Given the description of an element on the screen output the (x, y) to click on. 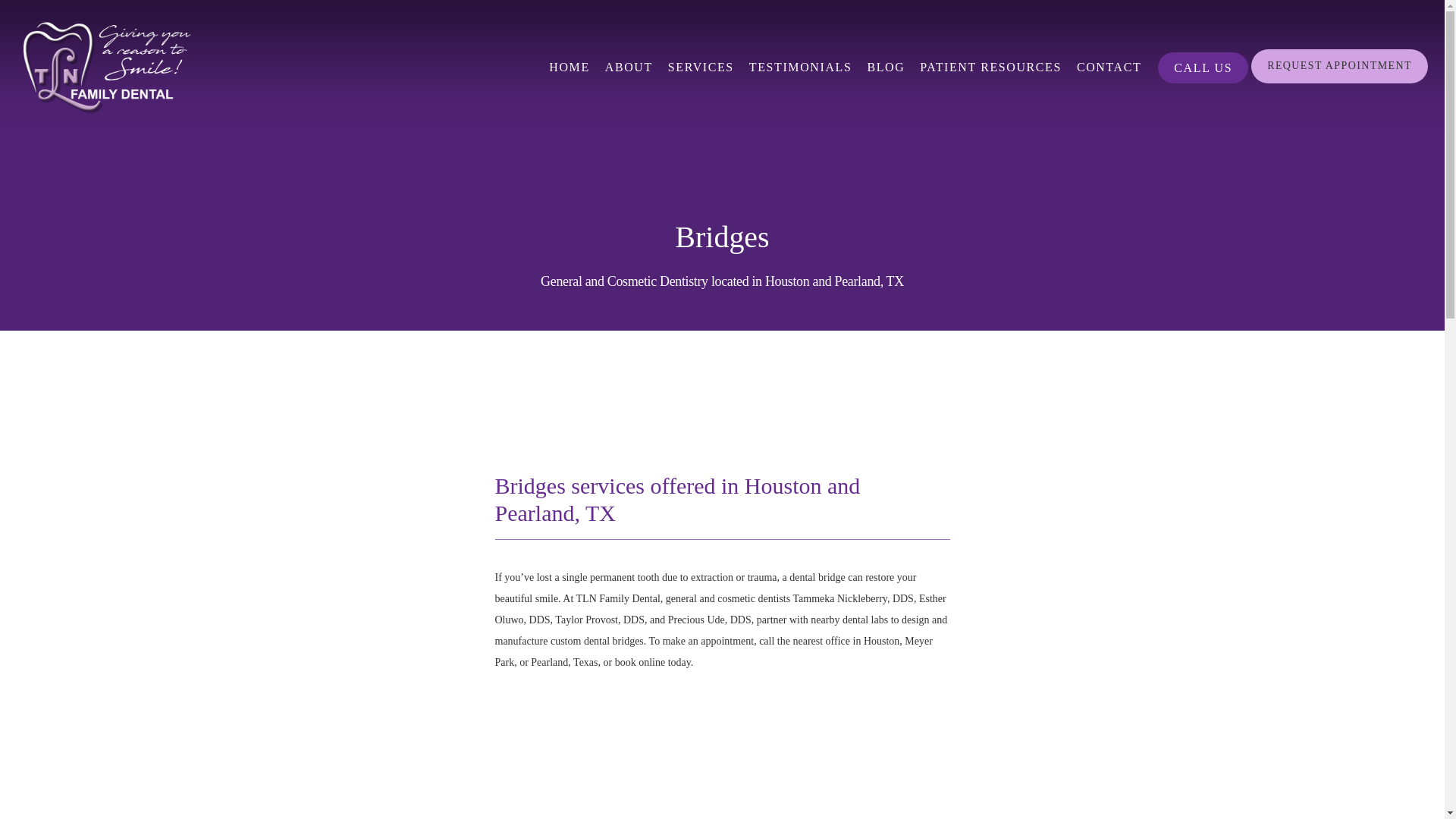
CONTACT (1109, 66)
TESTIMONIALS (800, 66)
HOME (568, 66)
ABOUT (628, 66)
CALL US (1202, 81)
SERVICES (700, 66)
REQUEST APPOINTMENT (1339, 81)
BLOG (885, 66)
